Given the description of an element on the screen output the (x, y) to click on. 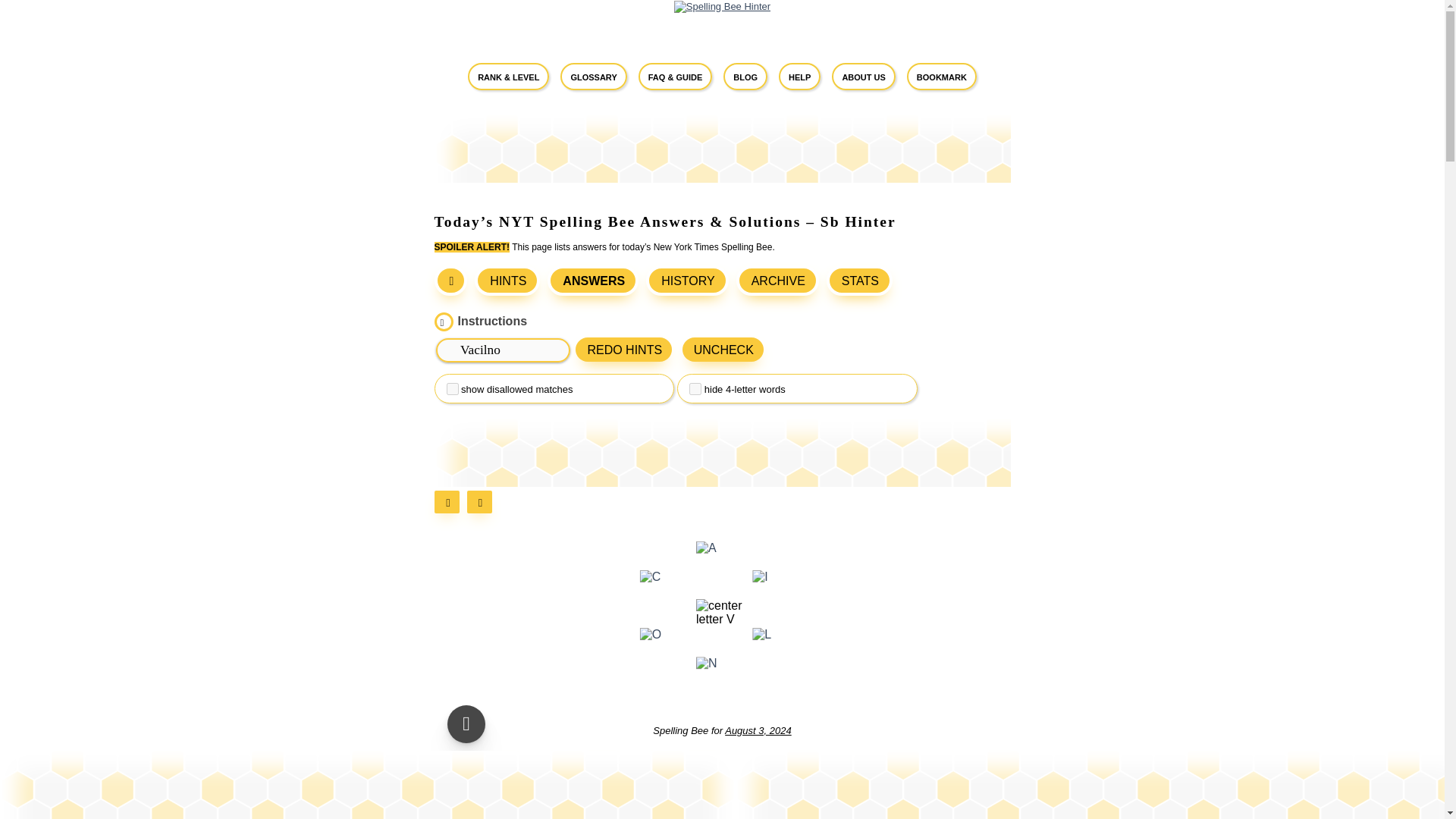
August 3, 2024 (757, 730)
Help (799, 76)
on (694, 388)
STATS (859, 280)
Vacilno (502, 350)
ARCHIVE (781, 281)
spelling bee past puzzles by date (777, 280)
statistics of past spelling bee puzzles (859, 280)
HISTORY (687, 280)
make L the center letter of puzzle (761, 634)
make I the center letter of puzzle (759, 576)
HISTORY (691, 281)
earliest (449, 502)
UNCHECK (722, 349)
make C the center letter of puzzle (650, 576)
